Given the description of an element on the screen output the (x, y) to click on. 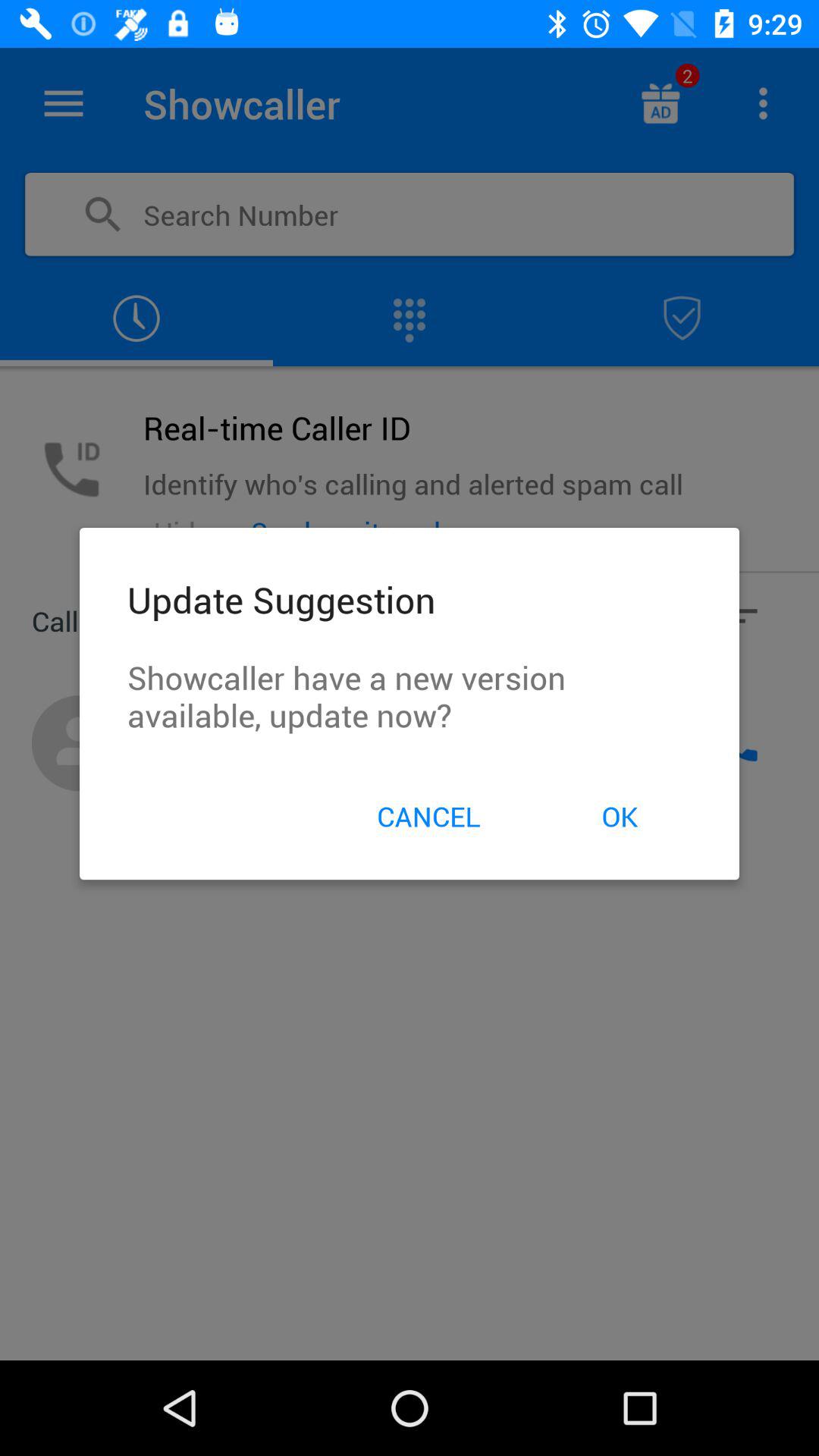
select item to the left of ok icon (428, 815)
